Given the description of an element on the screen output the (x, y) to click on. 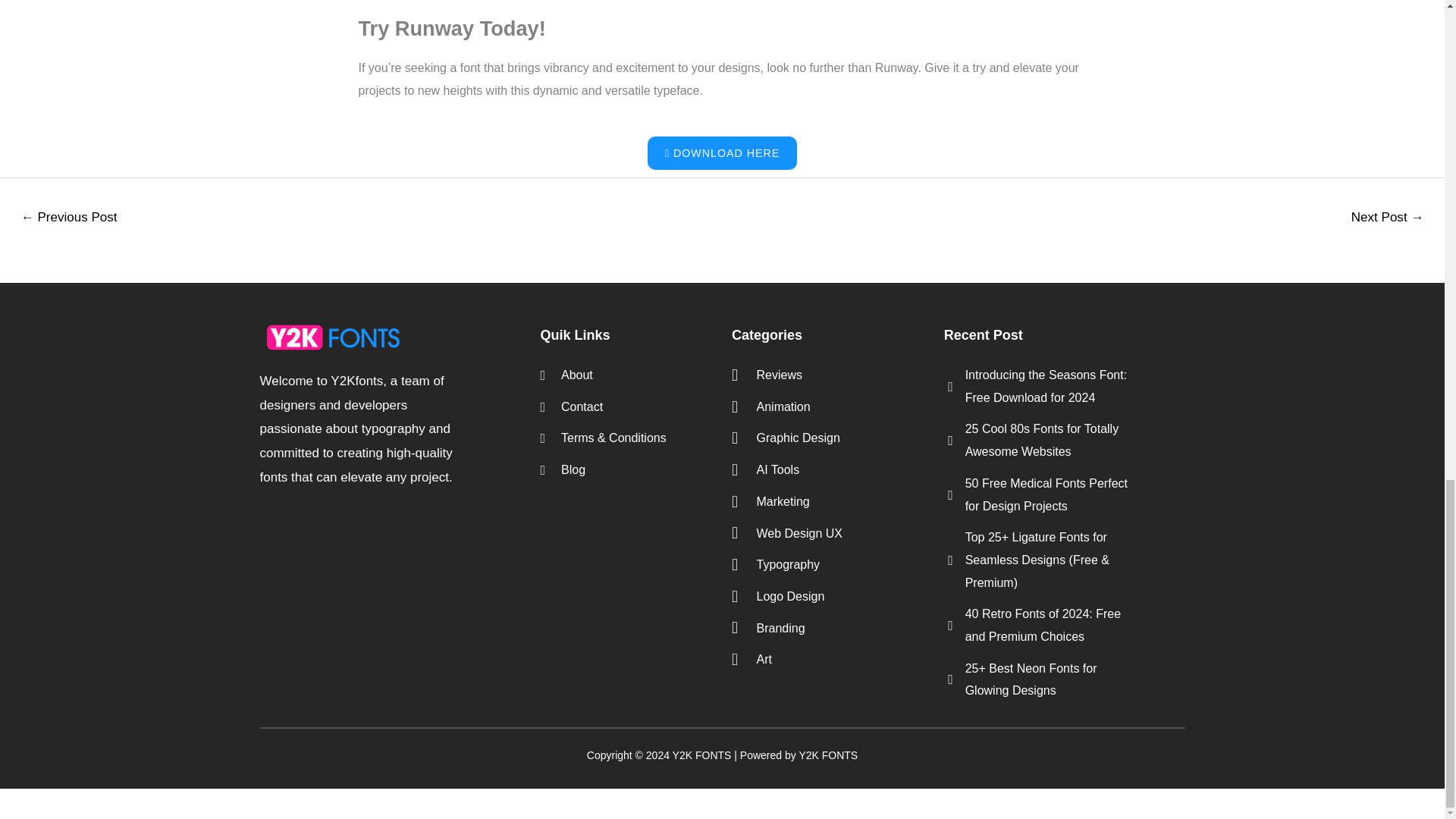
DOWNLOAD HERE (721, 152)
